Given the description of an element on the screen output the (x, y) to click on. 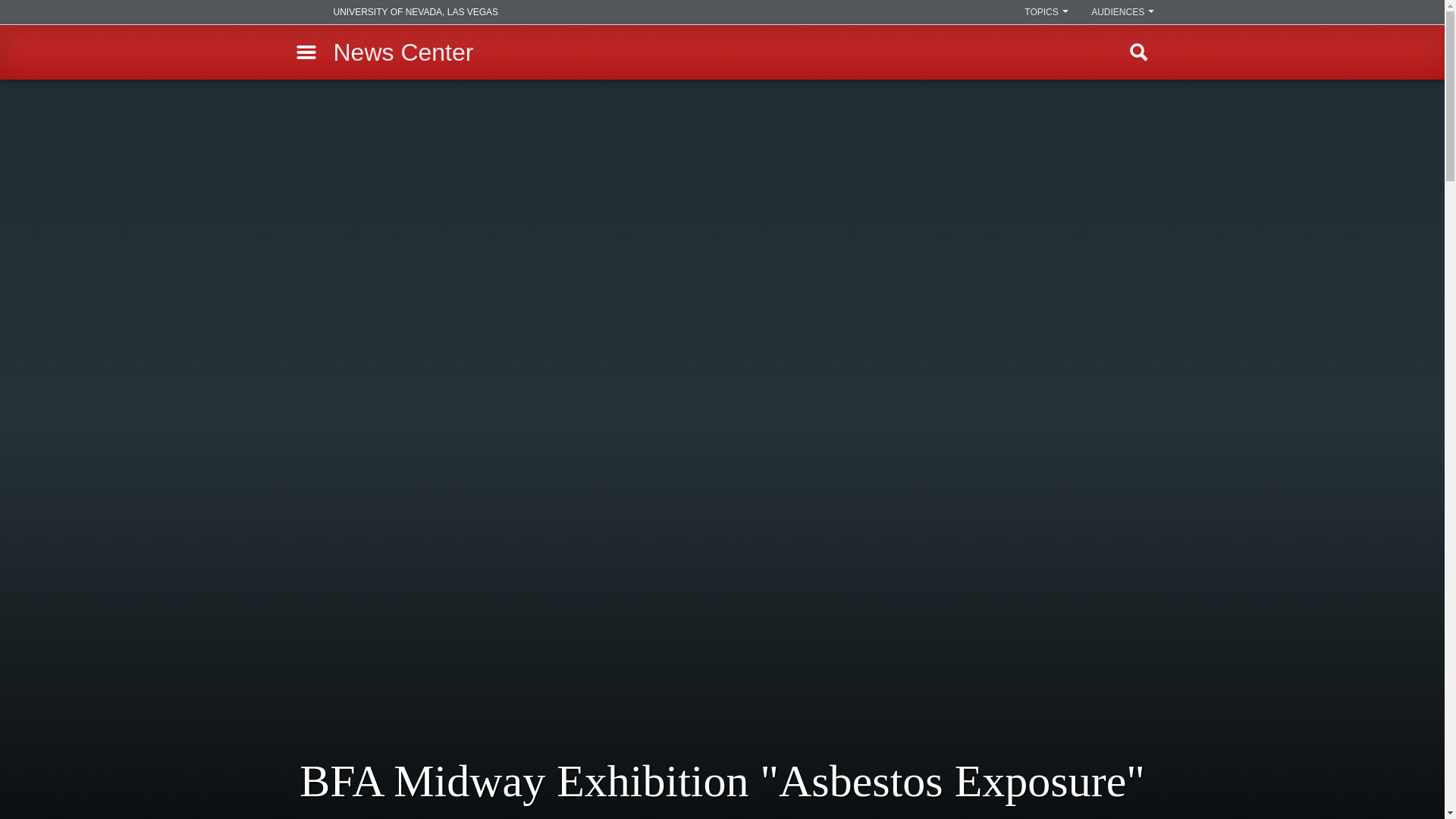
AUDIENCES (1123, 12)
News Center (403, 51)
TOPICS (1046, 12)
Find (1139, 52)
UNIVERSITY OF NEVADA, LAS VEGAS (395, 11)
